Given the description of an element on the screen output the (x, y) to click on. 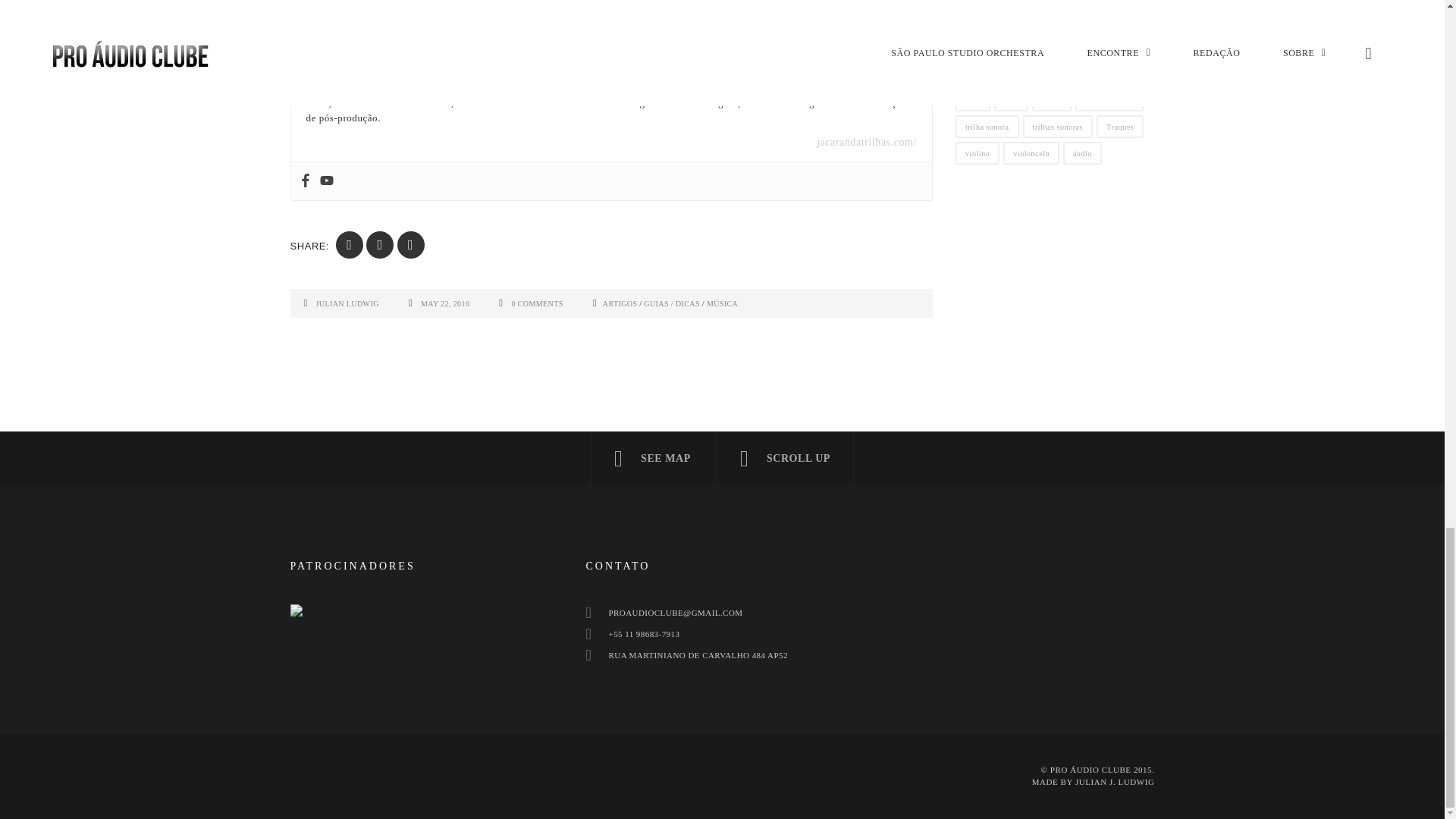
Youtube (326, 181)
Facebook (305, 181)
Posts by Julian Ludwig (346, 303)
